Given the description of an element on the screen output the (x, y) to click on. 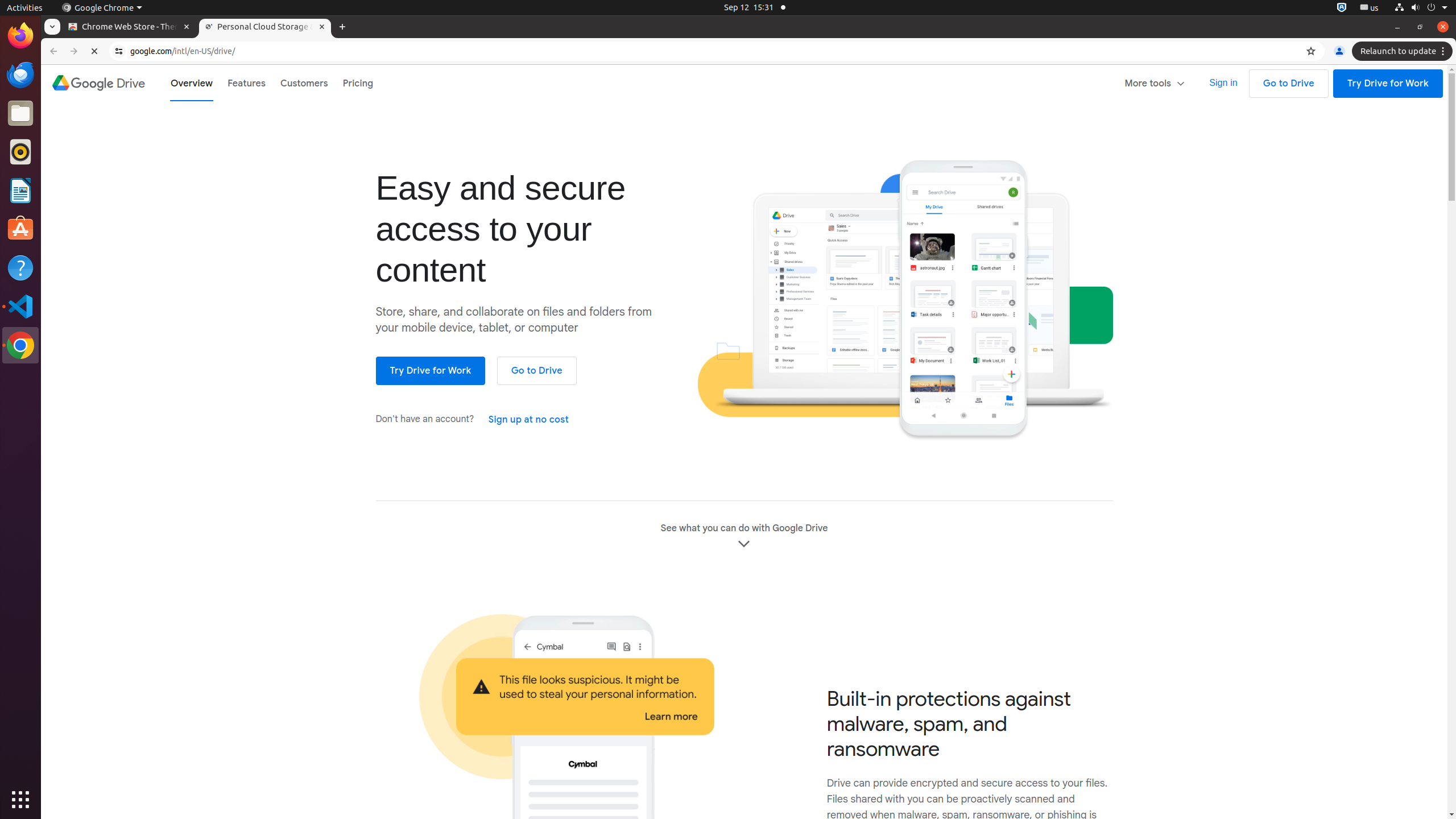
Rhythmbox Element type: push-button (20, 151)
:1.21/StatusNotifierItem Element type: menu (1369, 7)
